Given the description of an element on the screen output the (x, y) to click on. 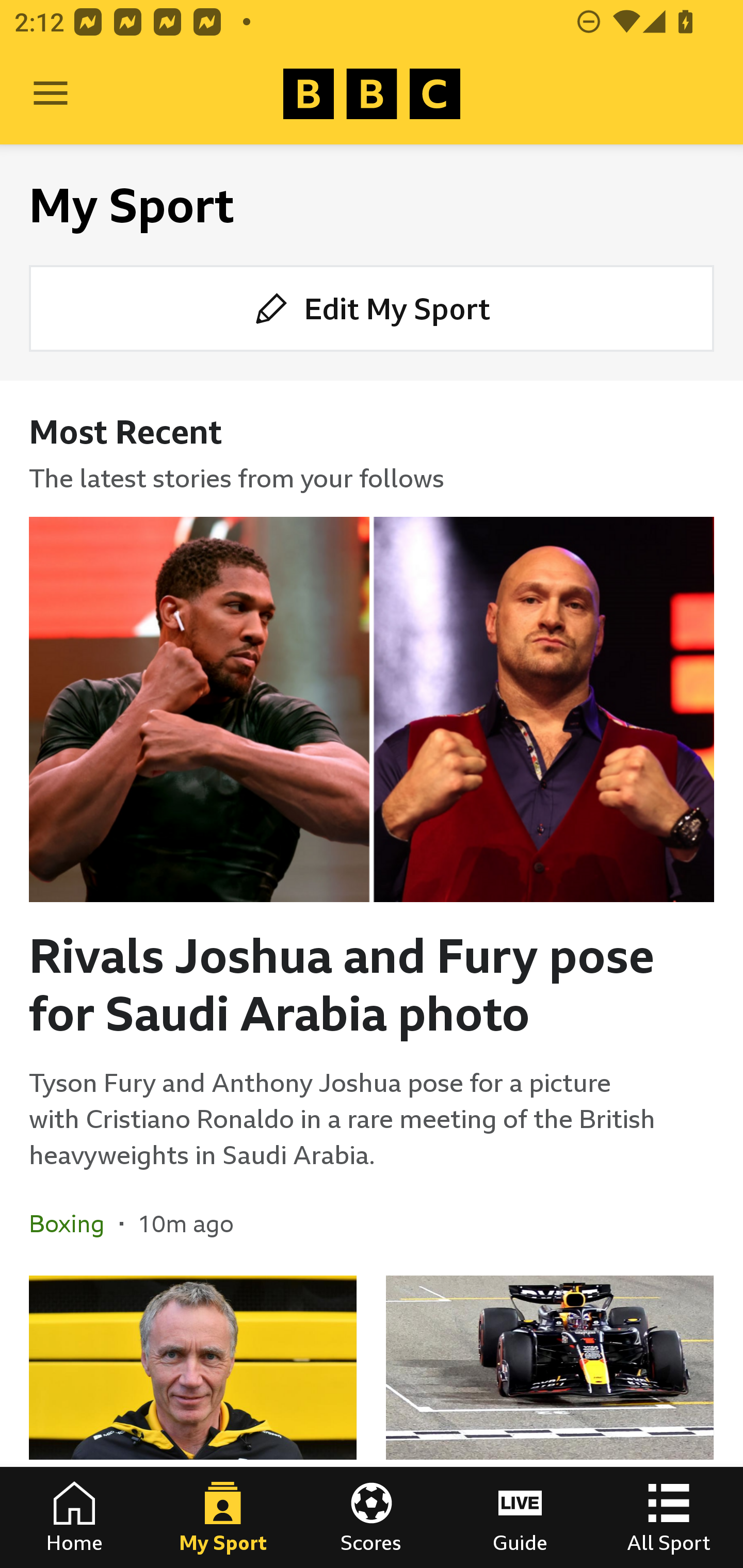
Open Menu (50, 93)
Edit My Sport (371, 307)
Engineer Bell leaves struggling Alpine (192, 1421)
Home (74, 1517)
Scores (371, 1517)
Guide (519, 1517)
All Sport (668, 1517)
